Given the description of an element on the screen output the (x, y) to click on. 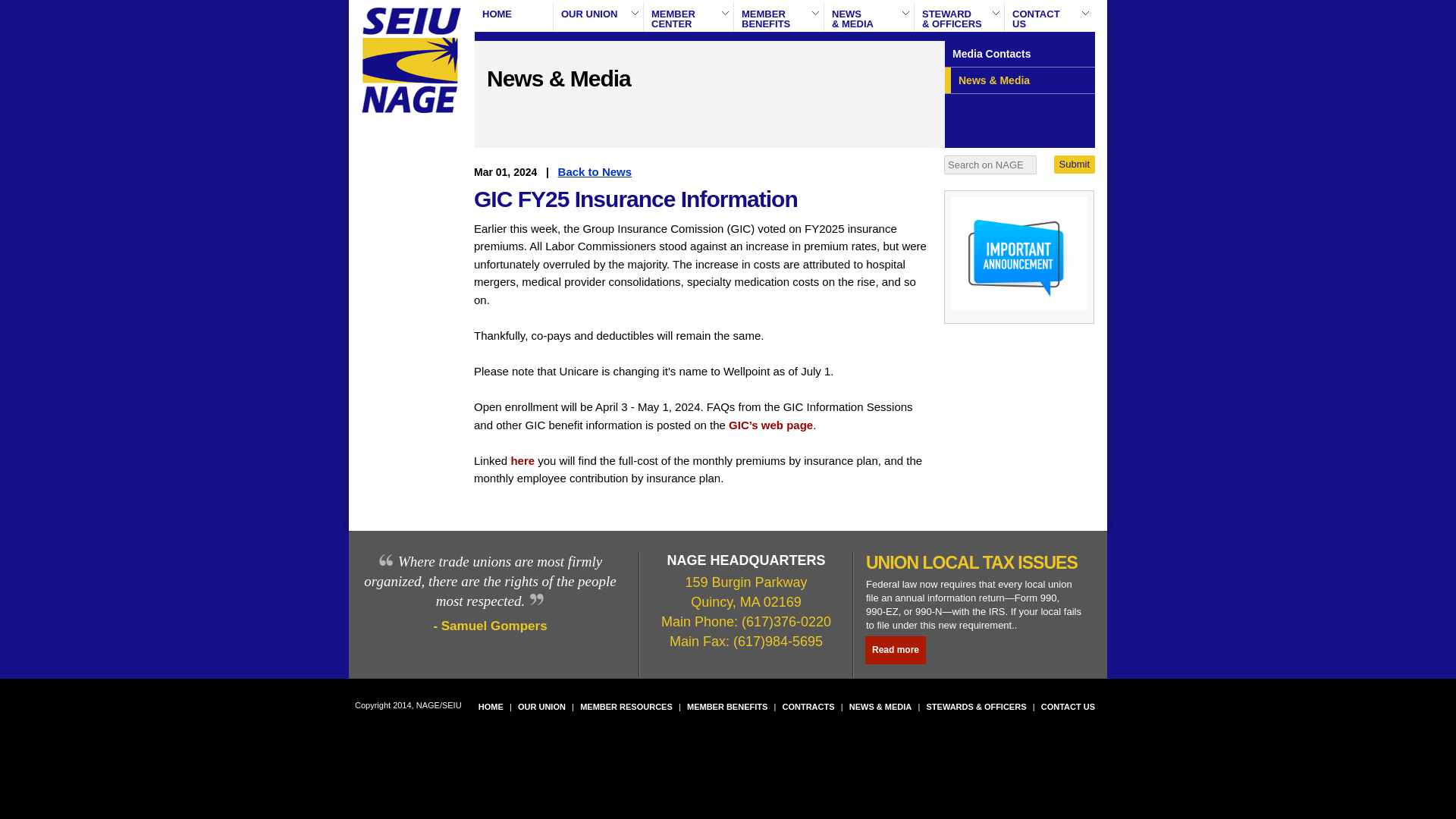
CONTACT US (1068, 706)
OUR UNION (688, 15)
HOME (598, 15)
Read more (513, 15)
CONTRACTS (778, 15)
MEMBER BENEFITS (895, 650)
here  (808, 706)
Submit (726, 706)
Back to News (524, 460)
HOME (1074, 164)
Submit (1049, 15)
Media Contacts (594, 171)
